Given the description of an element on the screen output the (x, y) to click on. 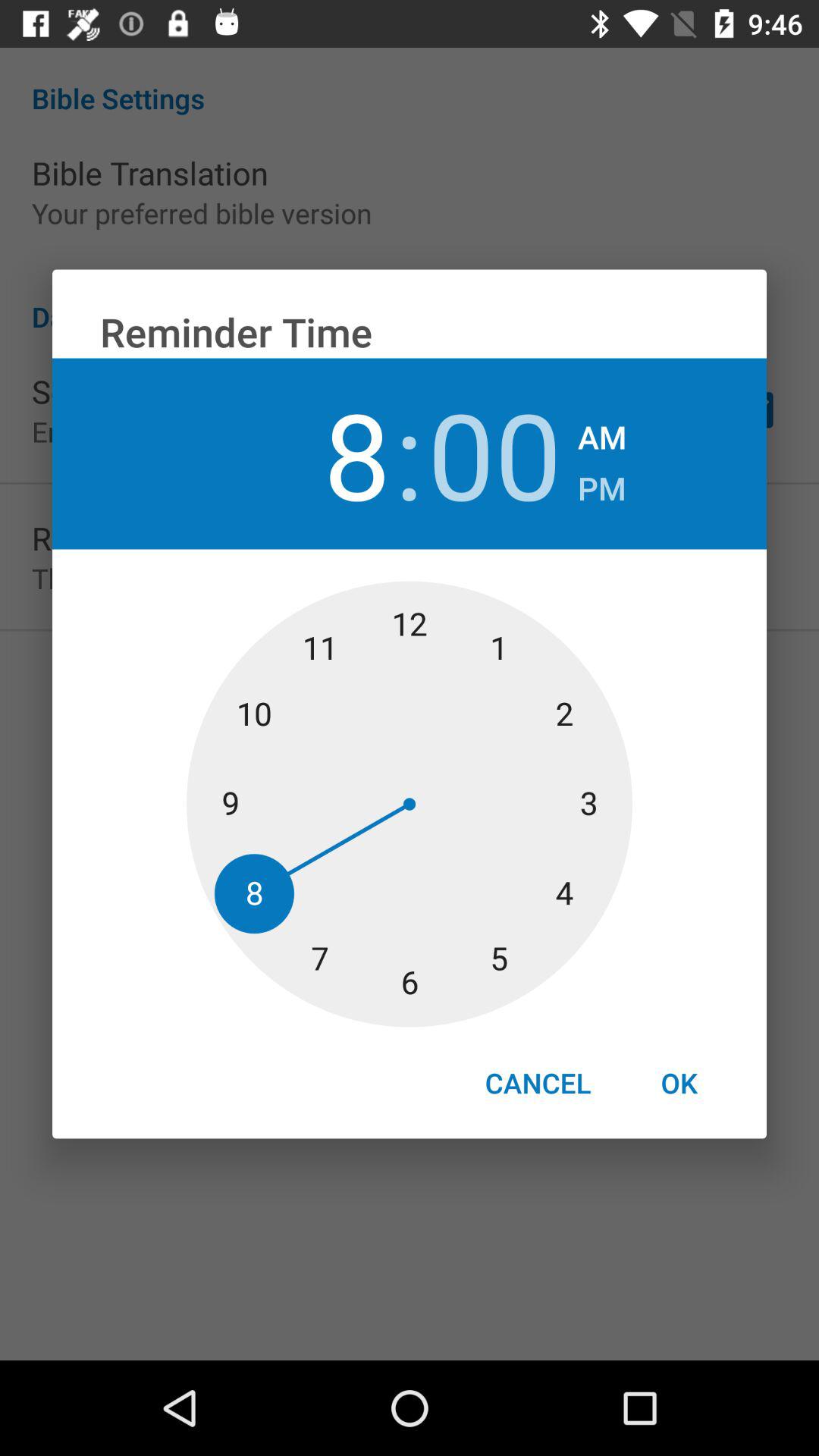
tap the item to the left of ok button (538, 1082)
